Given the description of an element on the screen output the (x, y) to click on. 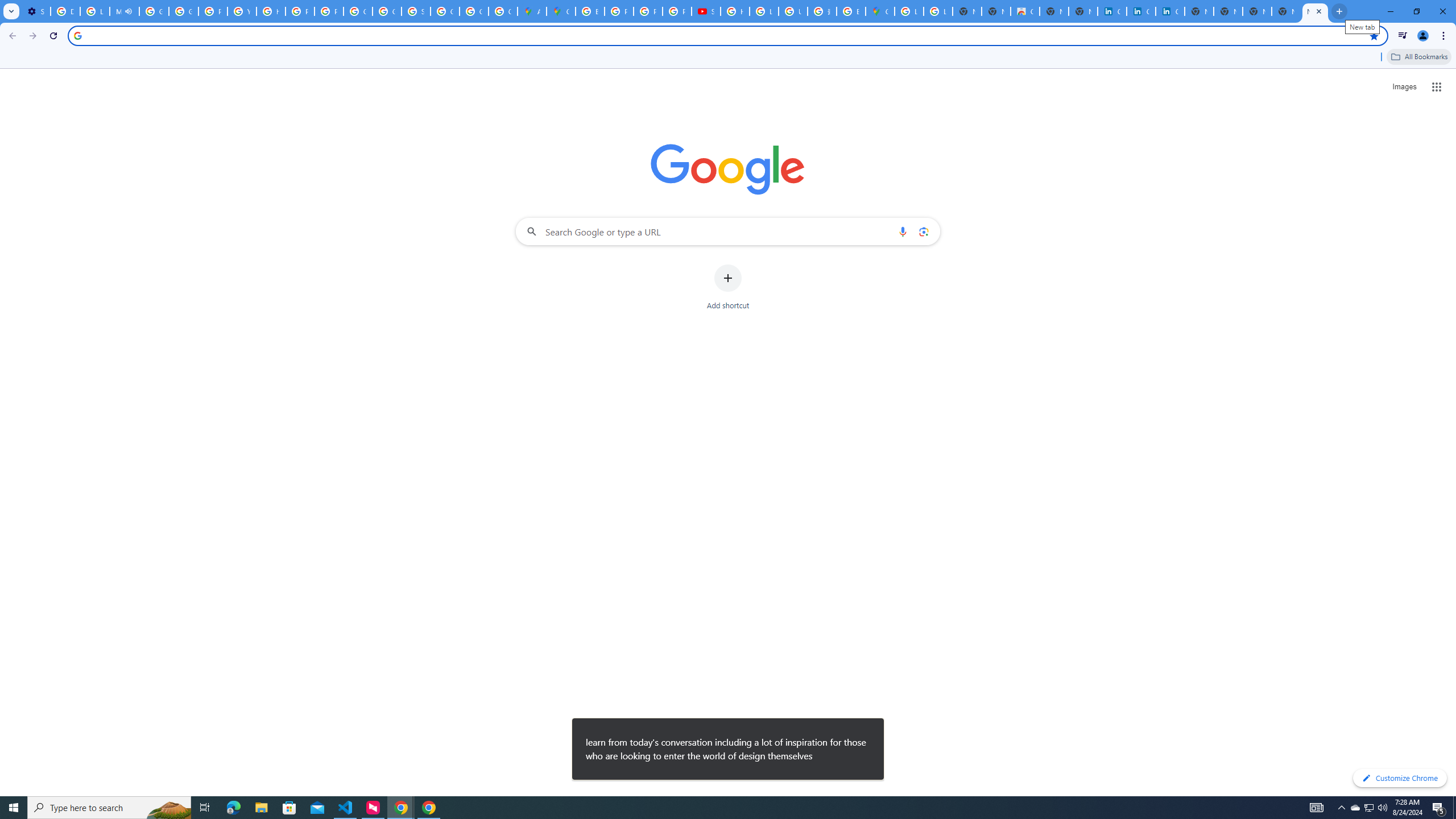
YouTube (242, 11)
Cookie Policy | LinkedIn (1111, 11)
Explore new street-level details - Google Maps Help (850, 11)
Search Google or type a URL (727, 230)
Google Maps (879, 11)
Cookie Policy | LinkedIn (1140, 11)
Privacy Help Center - Policies Help (300, 11)
Bookmarks (728, 58)
